Given the description of an element on the screen output the (x, y) to click on. 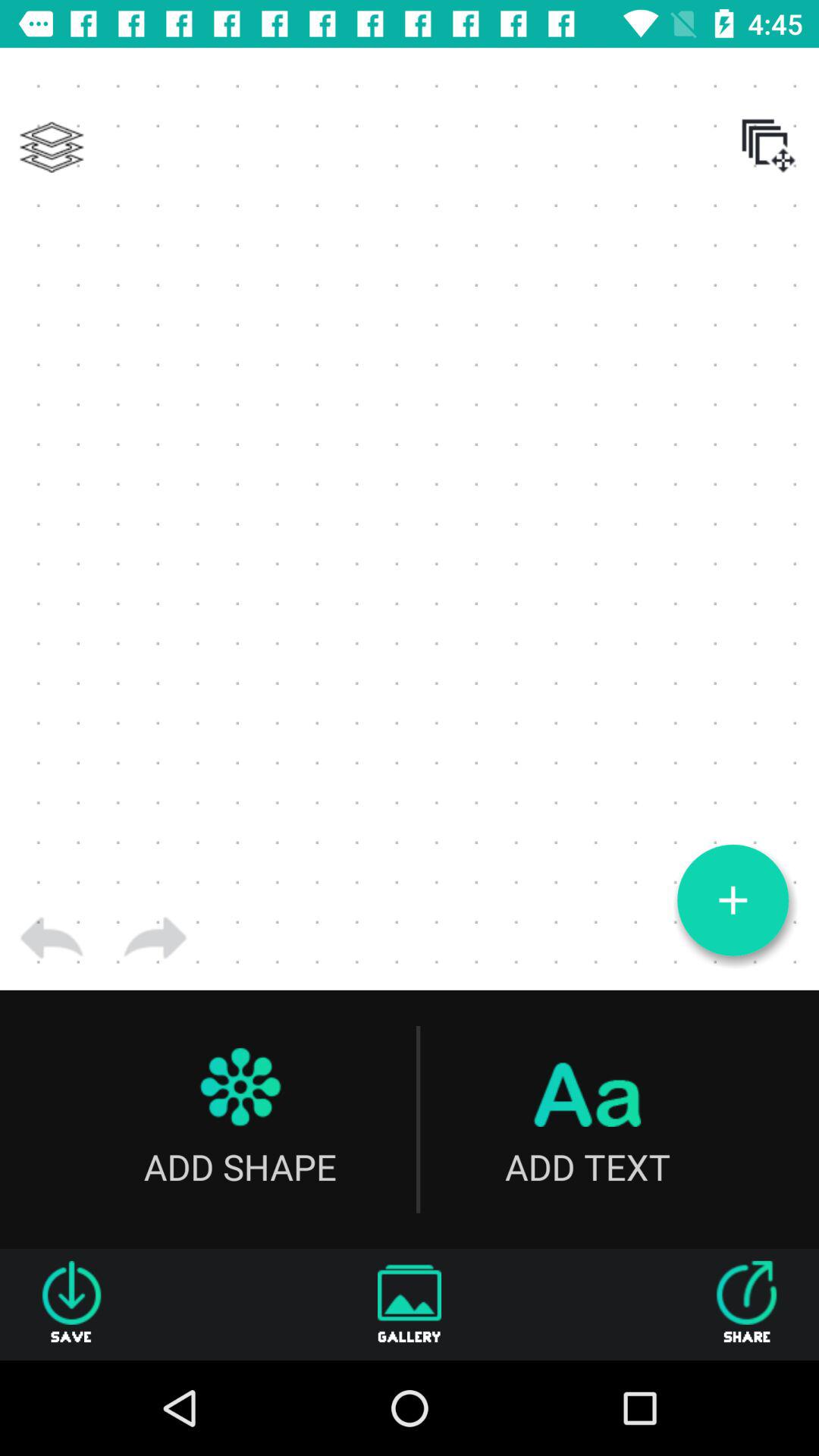
add to library (51, 147)
